Given the description of an element on the screen output the (x, y) to click on. 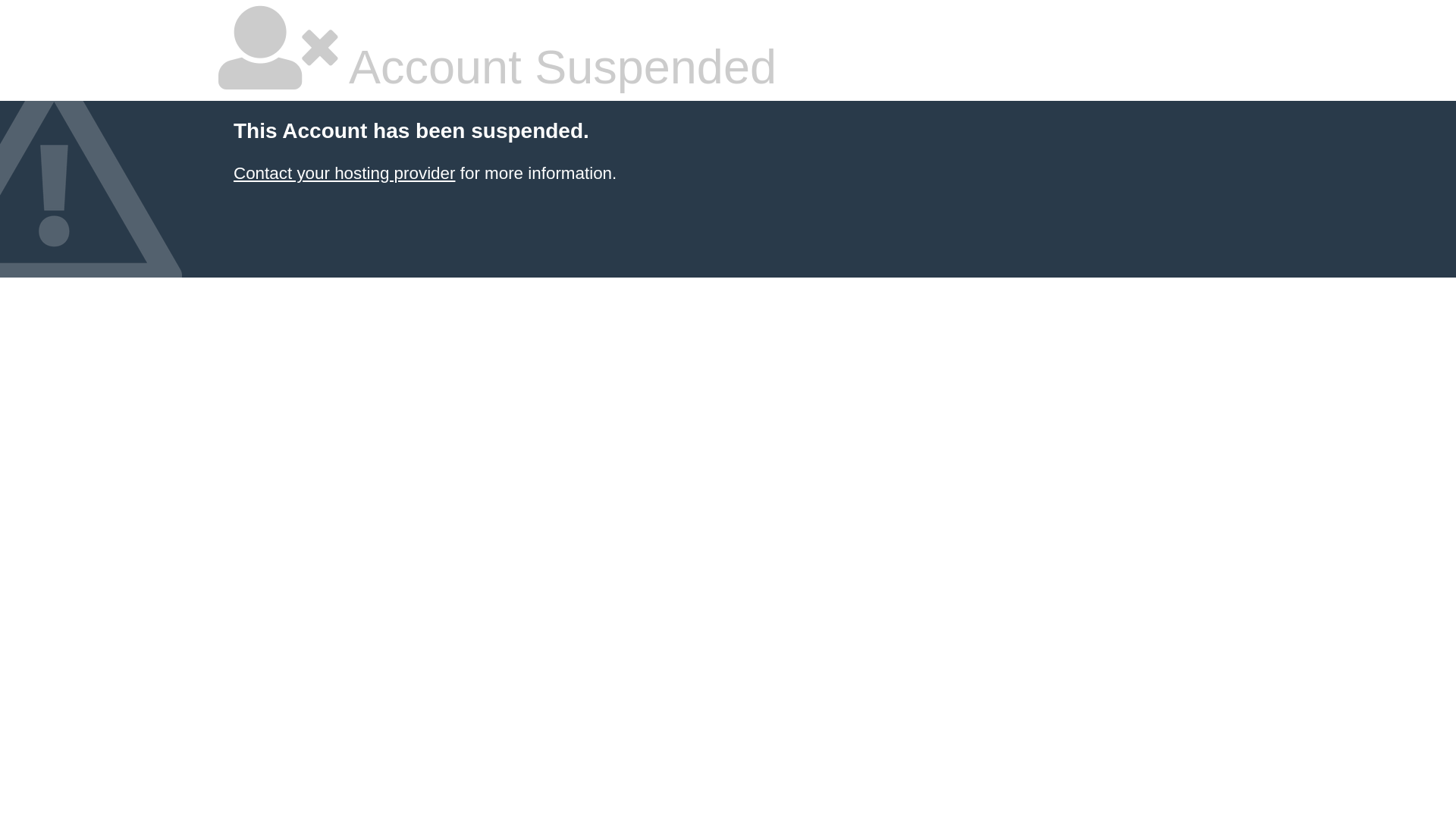
Contact your hosting provider Element type: text (344, 172)
